Given the description of an element on the screen output the (x, y) to click on. 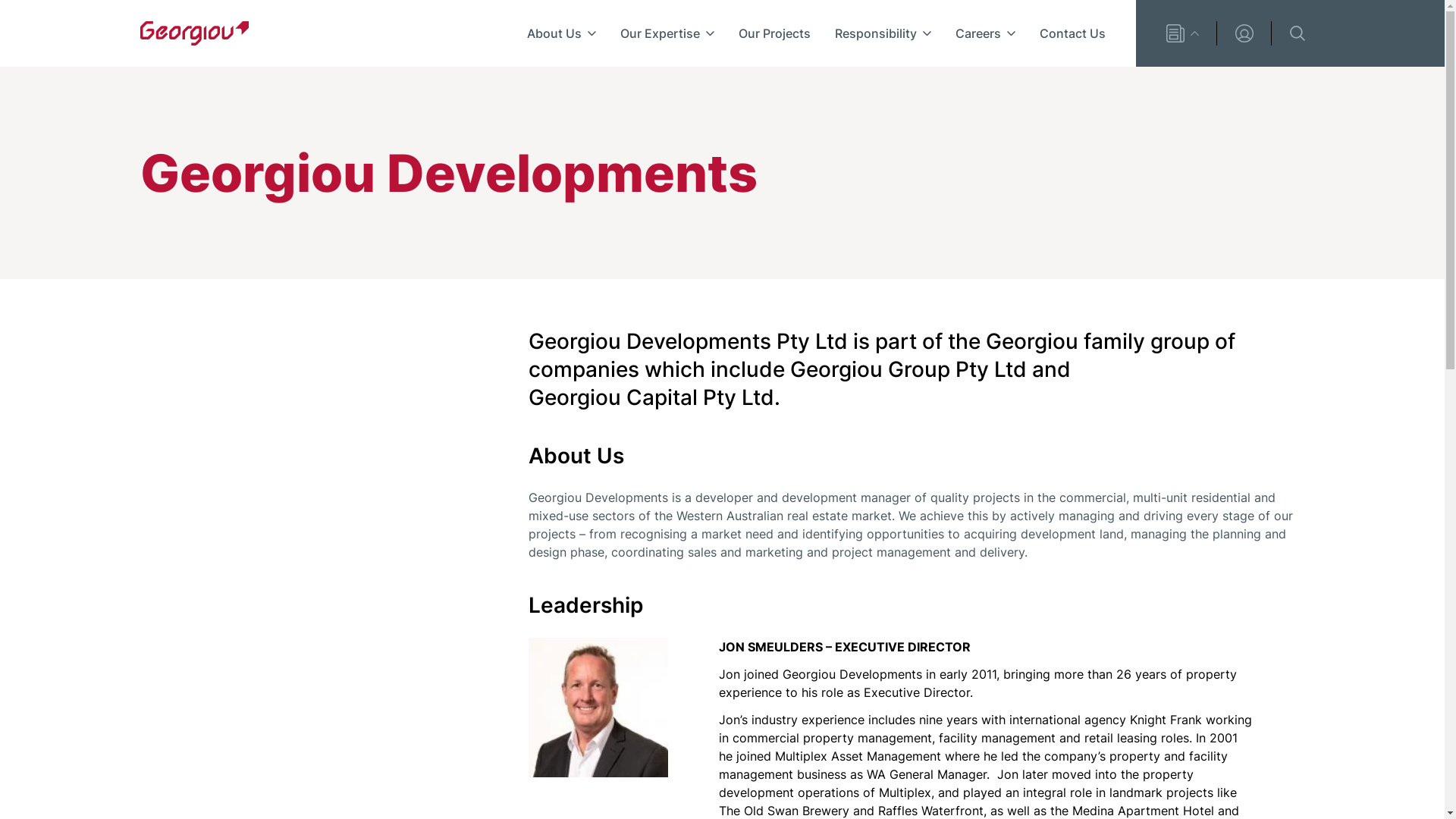
About Us Element type: text (560, 33)
Contact Us Element type: text (1071, 33)
Our Expertise Element type: text (667, 33)
Careers Element type: text (985, 33)
Responsibility Element type: text (882, 33)
Our Projects Element type: text (774, 33)
